Given the description of an element on the screen output the (x, y) to click on. 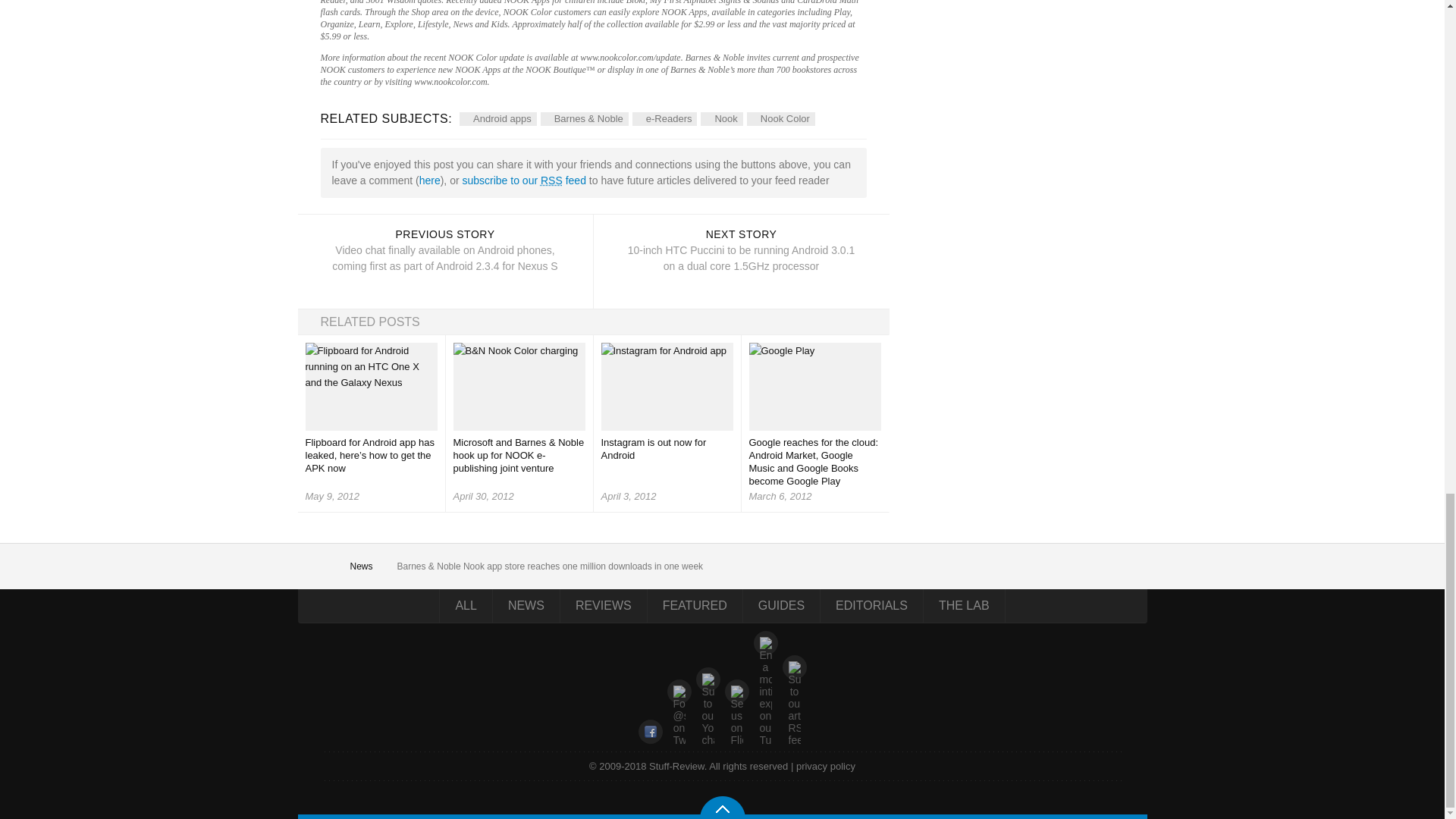
e-Readers (664, 119)
here (430, 180)
Nook (721, 119)
subscribe to our RSS feed (523, 180)
Syndicate this site using RSS (523, 180)
Really Simple Syndication (551, 180)
Nook Color (780, 119)
Android apps (498, 119)
